Given the description of an element on the screen output the (x, y) to click on. 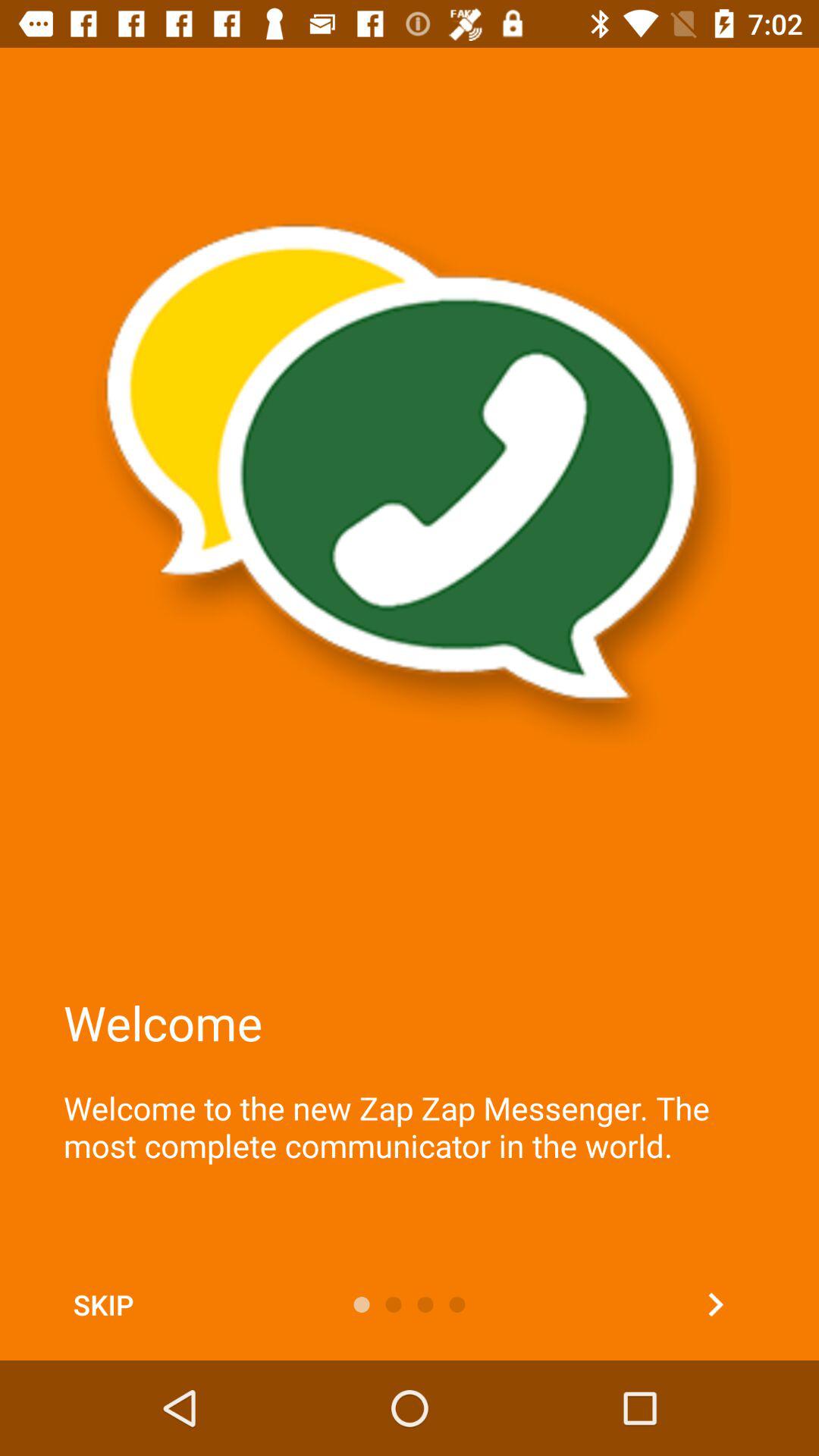
go to next page (715, 1304)
